Given the description of an element on the screen output the (x, y) to click on. 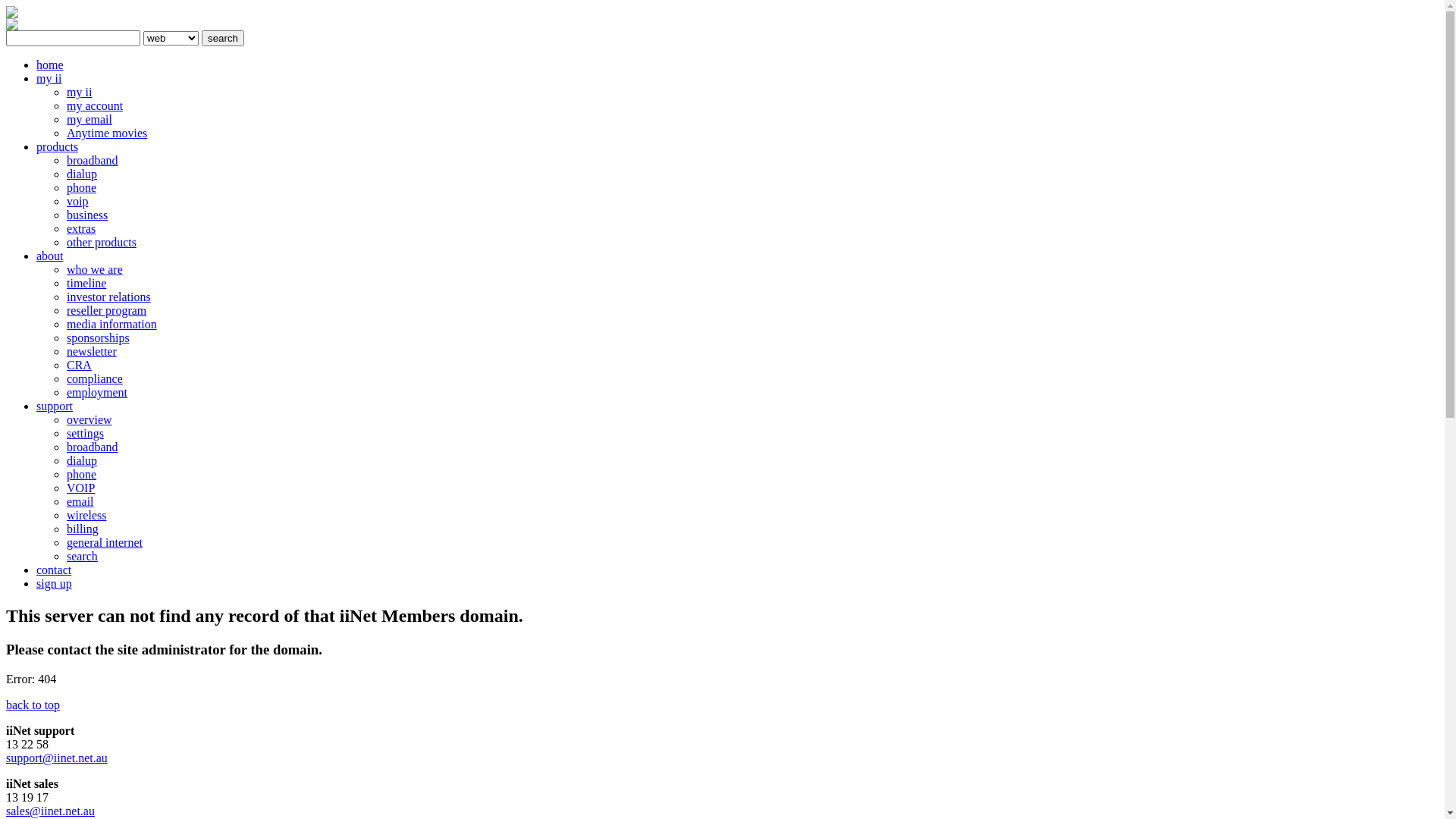
sponsorships Element type: text (97, 337)
investor relations Element type: text (108, 296)
broadband Element type: text (92, 159)
products Element type: text (57, 146)
email Element type: text (80, 501)
contact Element type: text (53, 569)
business Element type: text (86, 214)
sign up Element type: text (54, 583)
CRA Element type: text (78, 364)
overview Element type: text (89, 419)
my ii Element type: text (48, 78)
about Element type: text (49, 255)
other products Element type: text (101, 241)
sales@iinet.net.au Element type: text (50, 810)
voip Element type: text (76, 200)
compliance Element type: text (94, 378)
home Element type: text (49, 64)
search Element type: text (222, 38)
broadband Element type: text (92, 446)
newsletter Element type: text (91, 351)
phone Element type: text (81, 473)
Anytime movies Element type: text (106, 132)
who we are Element type: text (94, 269)
dialup Element type: text (81, 173)
dialup Element type: text (81, 460)
search Element type: text (81, 555)
general internet Element type: text (104, 542)
VOIP Element type: text (80, 487)
phone Element type: text (81, 187)
support Element type: text (54, 405)
billing Element type: text (82, 528)
support@iinet.net.au Element type: text (56, 757)
media information Element type: text (111, 323)
settings Element type: text (84, 432)
back to top Element type: text (32, 704)
my account Element type: text (94, 105)
reseller program Element type: text (106, 310)
timeline Element type: text (86, 282)
wireless Element type: text (86, 514)
extras Element type: text (80, 228)
employment Element type: text (96, 391)
my email Element type: text (89, 118)
my ii Element type: text (78, 91)
